Given the description of an element on the screen output the (x, y) to click on. 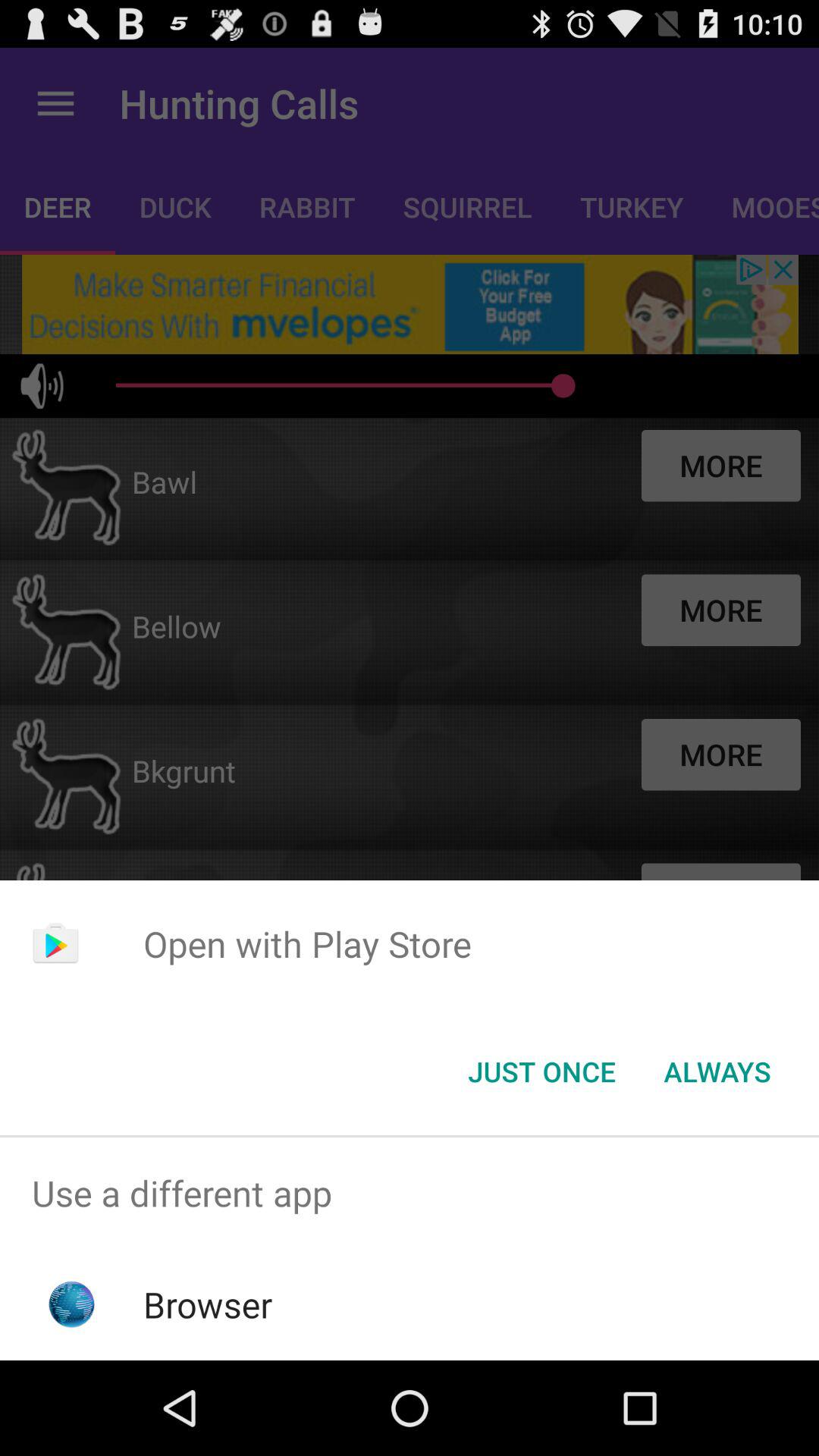
choose item below use a different (207, 1304)
